Given the description of an element on the screen output the (x, y) to click on. 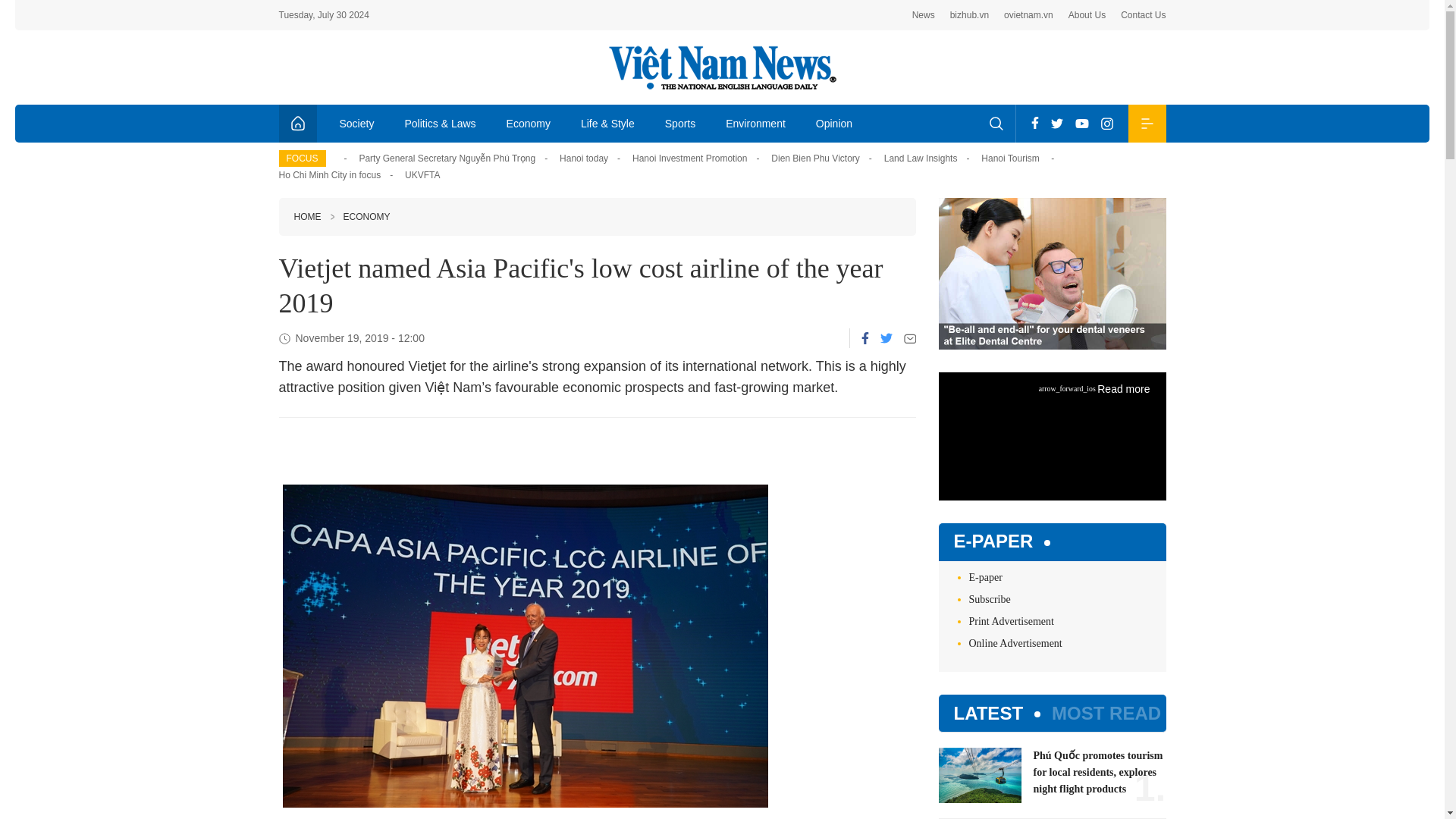
ovietnam.vn (1028, 15)
Sports (679, 123)
Environment (755, 123)
Email (909, 338)
Instagram (1106, 123)
Facebook (1035, 123)
Opinion (833, 123)
About Us (1086, 15)
bizhub.vn (969, 15)
Society (357, 123)
Twitter (885, 337)
Contact Us (1143, 15)
News (923, 15)
Economy (529, 123)
Twitter (1056, 122)
